Given the description of an element on the screen output the (x, y) to click on. 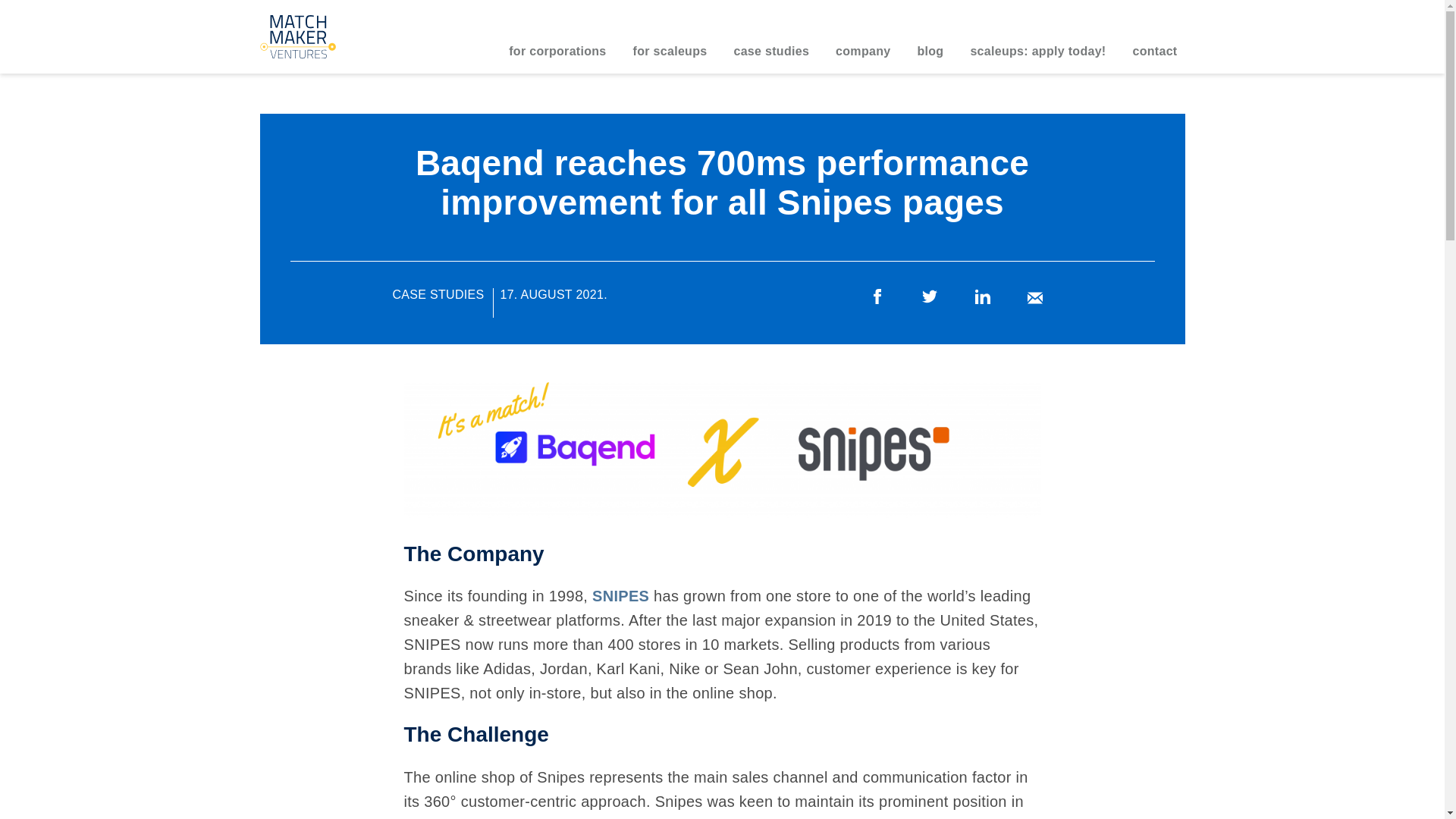
for scaleups (669, 59)
Share by Email (1034, 297)
case studies (770, 59)
contact (1154, 59)
company (862, 59)
for corporations (557, 59)
blog (929, 59)
scaleups: apply today! (1037, 59)
